Given the description of an element on the screen output the (x, y) to click on. 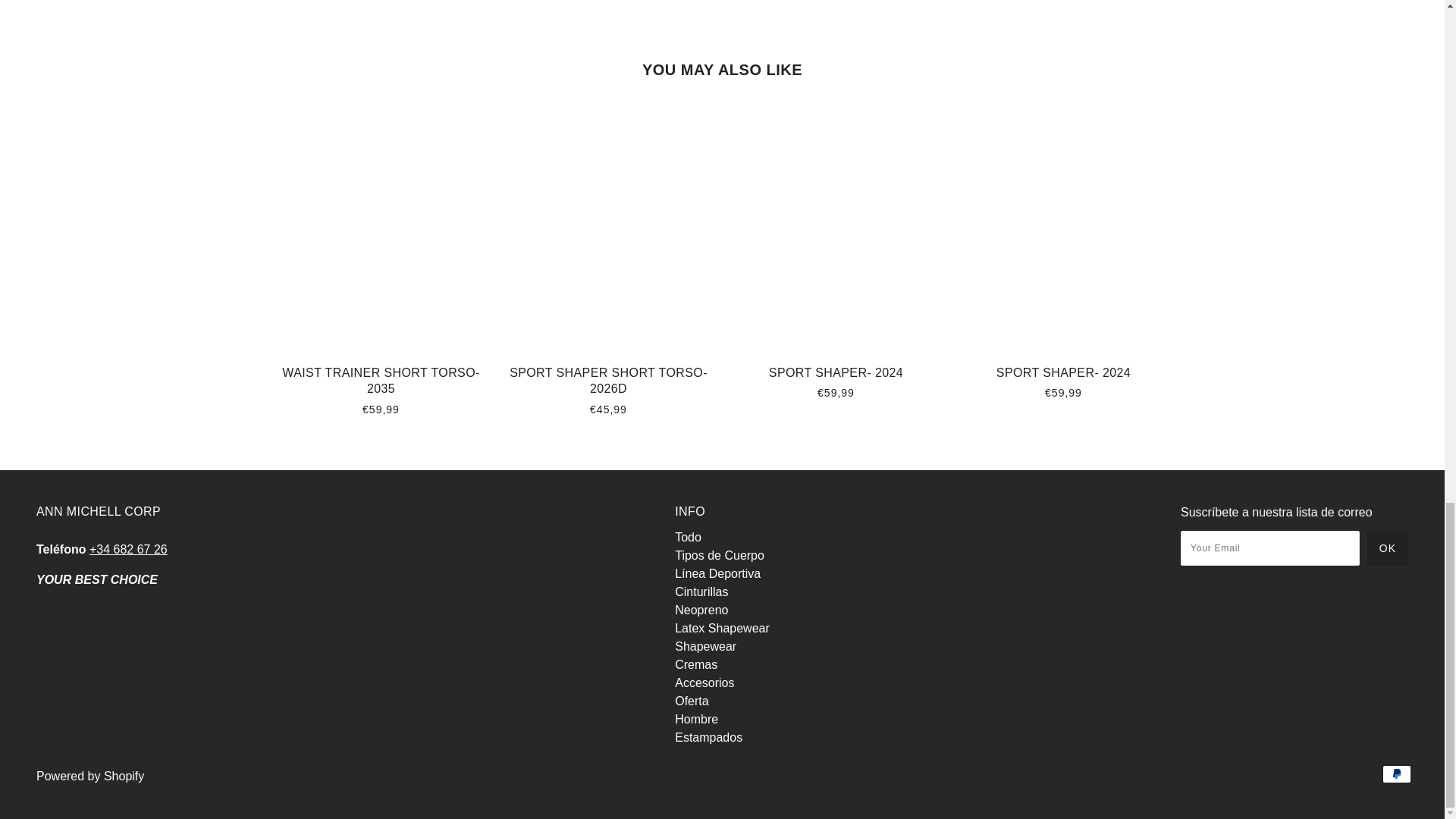
Cremas (696, 664)
Accesorios (704, 682)
Tipos de Cuerpo (719, 554)
Estampados (708, 737)
PayPal (1395, 773)
Latex Shapewear (722, 627)
Shapewear (705, 645)
Cinturillas (701, 591)
Hombre (696, 718)
Oferta (691, 700)
Neopreno (701, 609)
Ok (1387, 548)
Todo (688, 536)
